Given the description of an element on the screen output the (x, y) to click on. 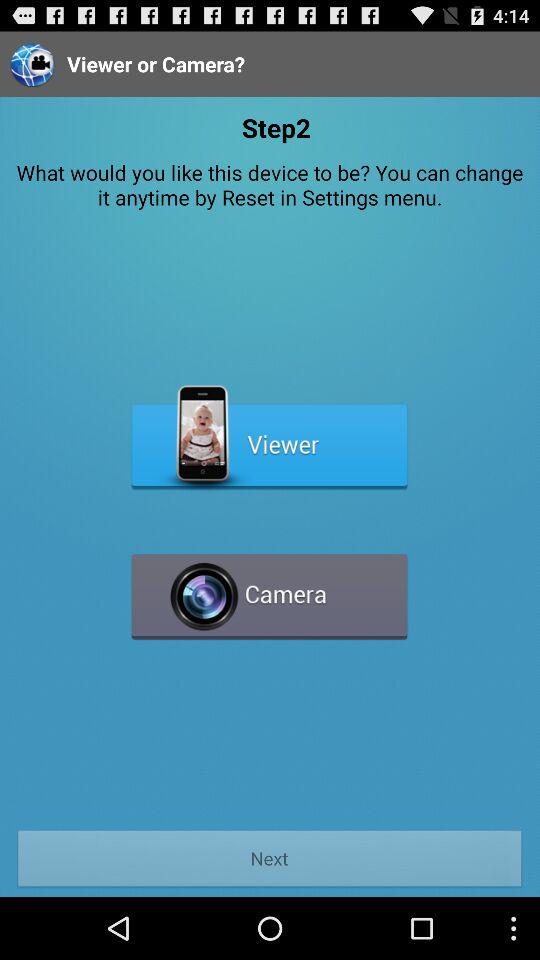
go to viewer (269, 438)
